Given the description of an element on the screen output the (x, y) to click on. 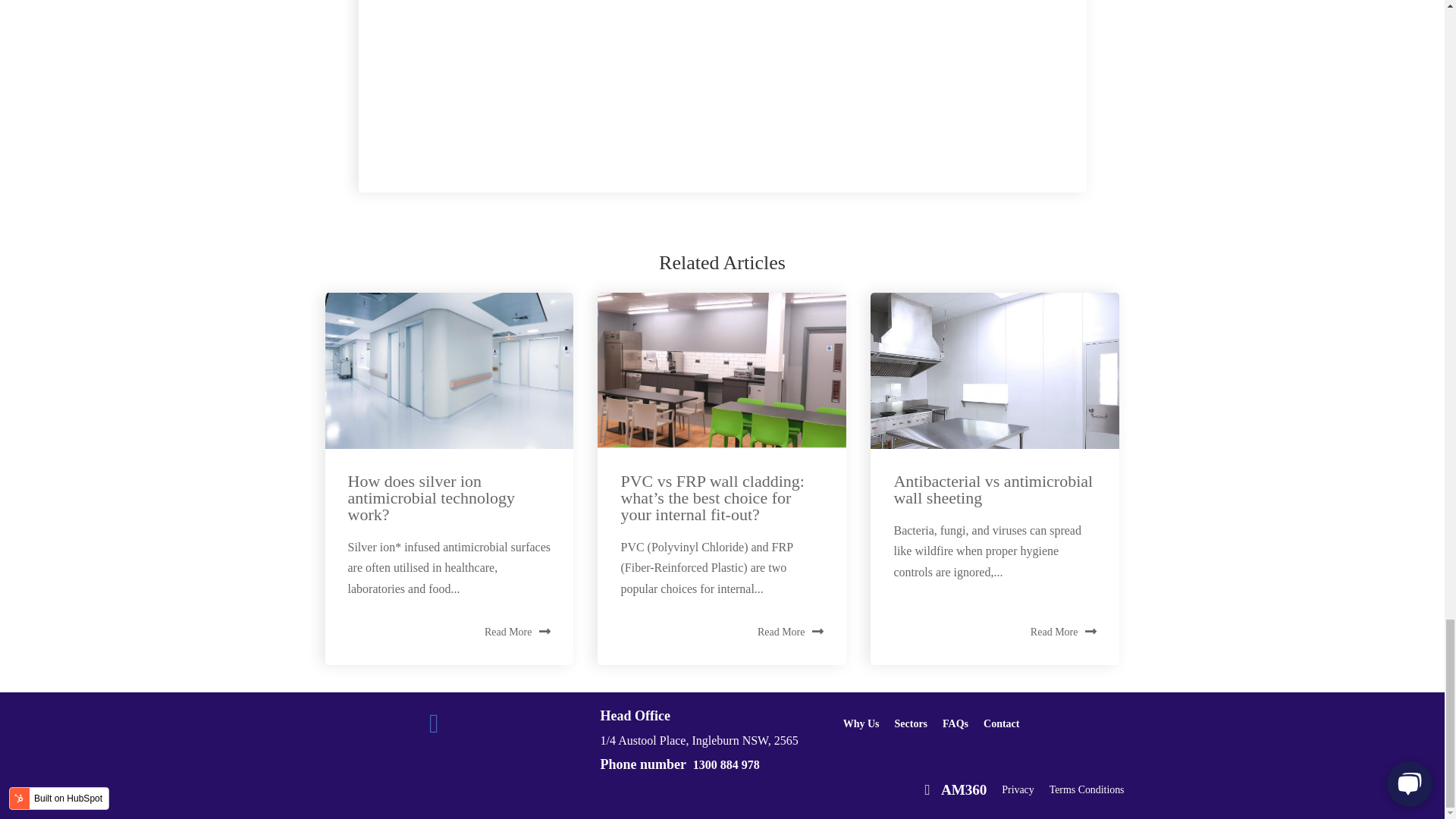
Antibacterial vs antimicrobial wall sheeting (993, 488)
Read More (517, 631)
Contact (1000, 723)
FAQs (954, 723)
Sectors (911, 723)
Read More (1063, 631)
1300 884 978 (726, 764)
AM360 (952, 789)
Form 0 (721, 65)
Why Us (860, 723)
Read More (790, 631)
How does silver ion antimicrobial technology work? (431, 497)
